Given the description of an element on the screen output the (x, y) to click on. 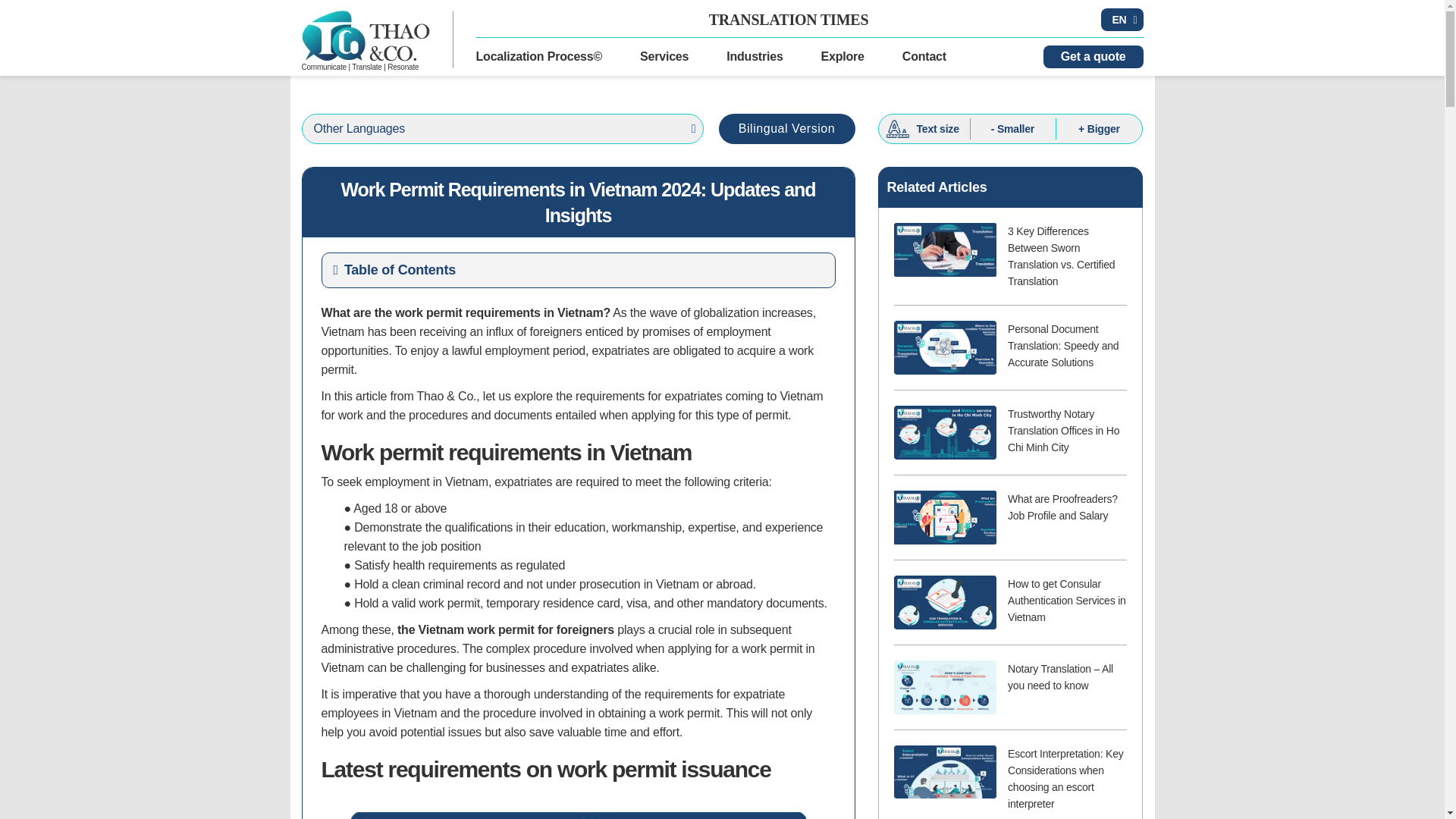
TRANSLATION TIMES (789, 19)
Trustworthy Notary Translation Offices in Ho Chi Minh City (944, 432)
How to get Consular Authentication Services in Vietnam (944, 602)
Explore (842, 56)
Industries (754, 56)
Contact (924, 56)
Personal Document Translation: Speedy and Accurate Solutions (944, 347)
What are Proofreaders? Job Profile and Salary (944, 517)
